Given the description of an element on the screen output the (x, y) to click on. 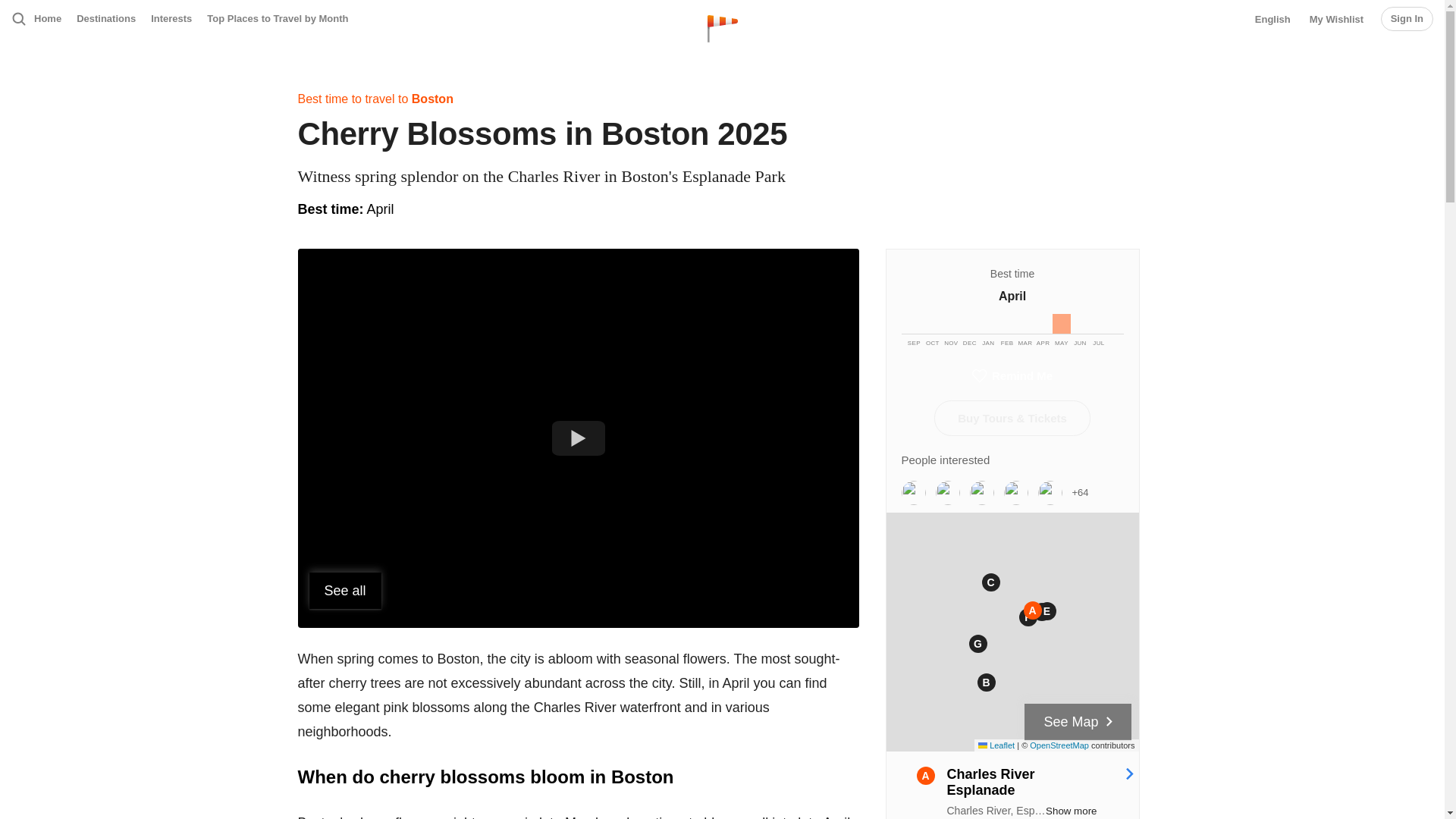
Remind Me (1011, 375)
Sign In (1406, 18)
See all (344, 590)
Top Places to Travel by Month (276, 18)
A JavaScript library for interactive maps (996, 745)
Destinations (106, 18)
Best time to travel to Boston (374, 98)
My Wishlist (1335, 19)
Interests (171, 18)
